Given the description of an element on the screen output the (x, y) to click on. 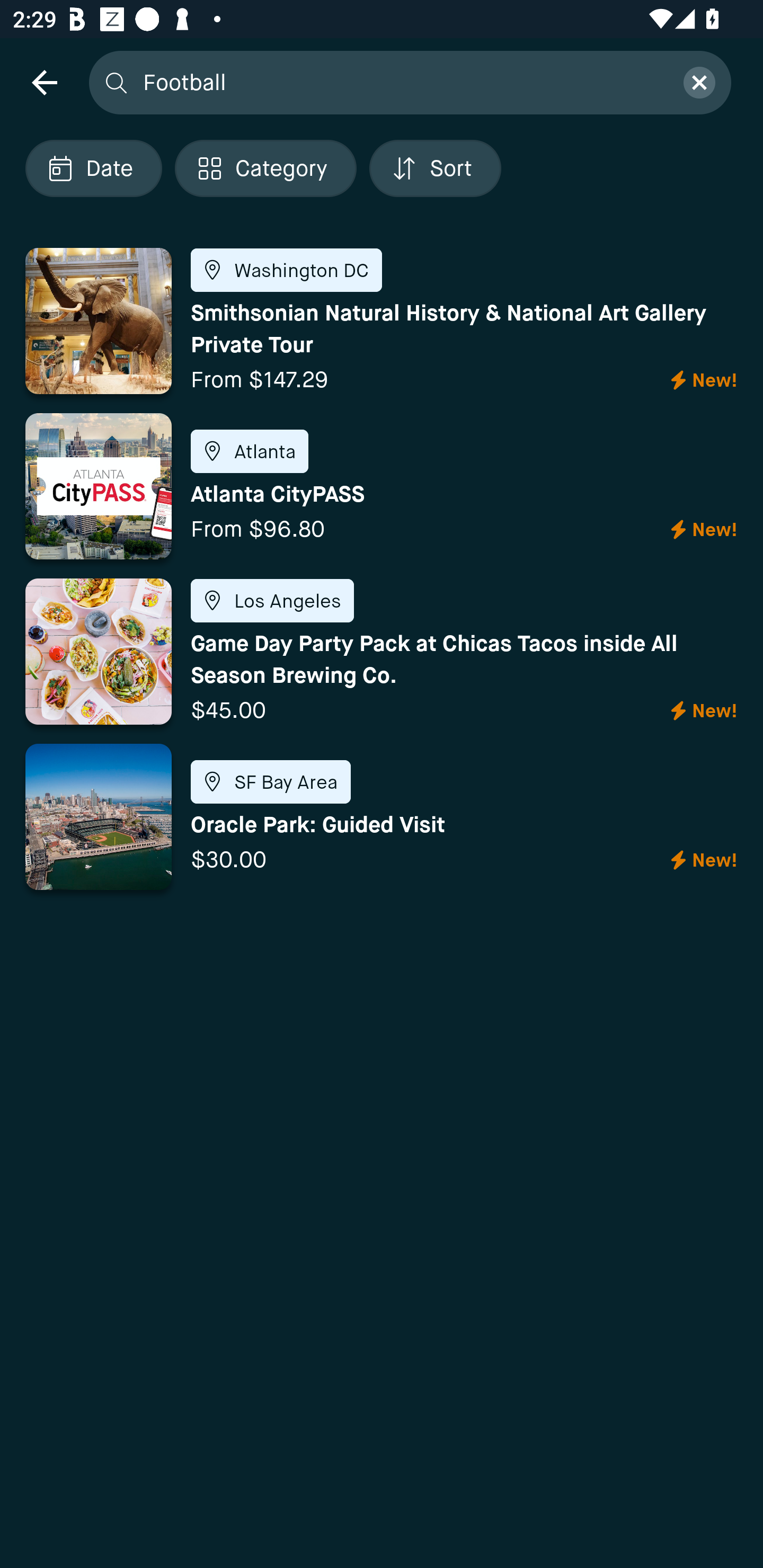
navigation icon (44, 81)
Football (402, 81)
Localized description Date (93, 168)
Localized description Category (265, 168)
Localized description Sort (435, 168)
